Given the description of an element on the screen output the (x, y) to click on. 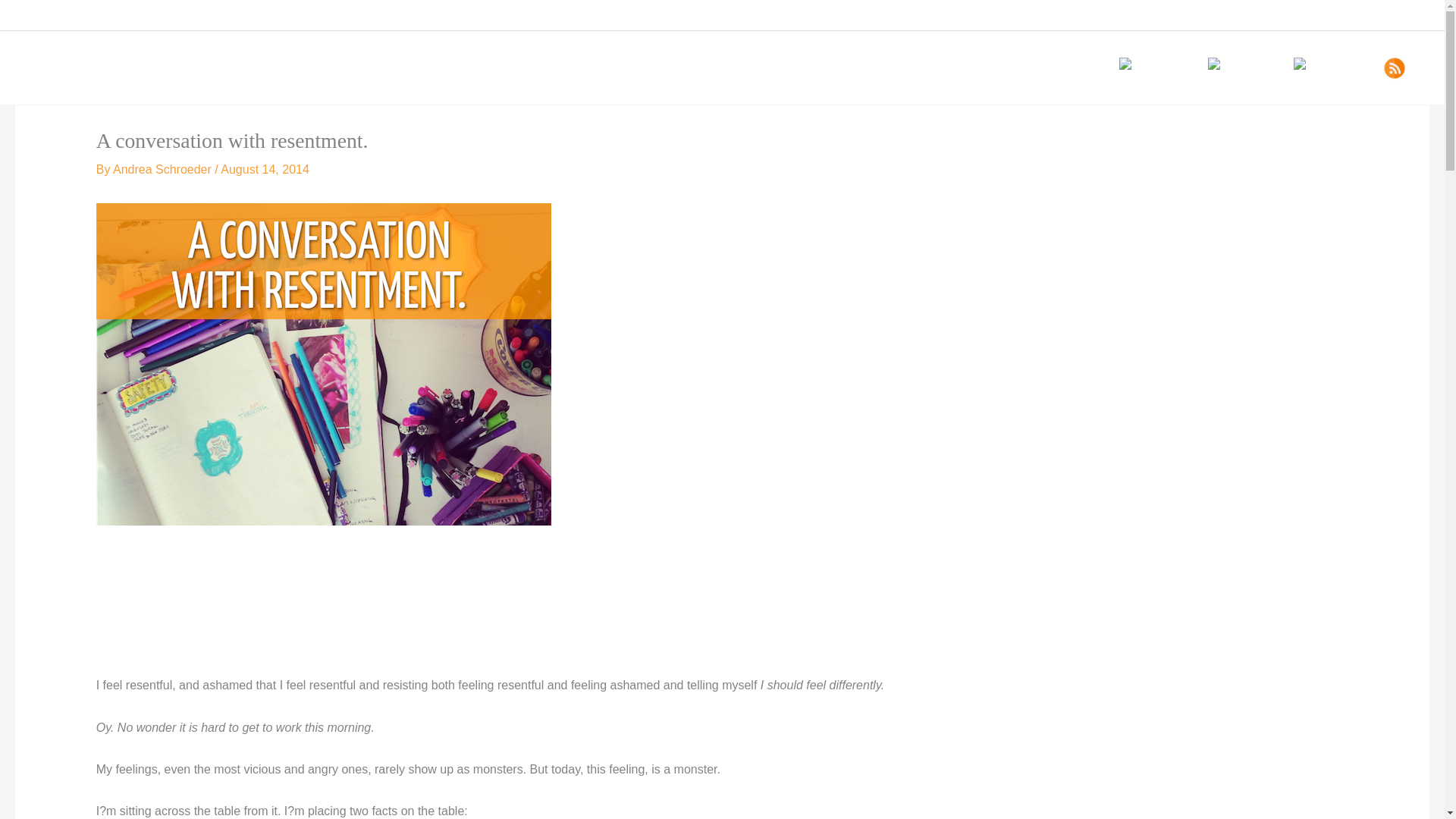
Andrea Schroeder (163, 169)
JOURNALS! (914, 67)
Free Creative Dream Journal (724, 67)
About (1002, 67)
View all posts by Andrea Schroeder (163, 169)
Project Miracle (591, 67)
